Given the description of an element on the screen output the (x, y) to click on. 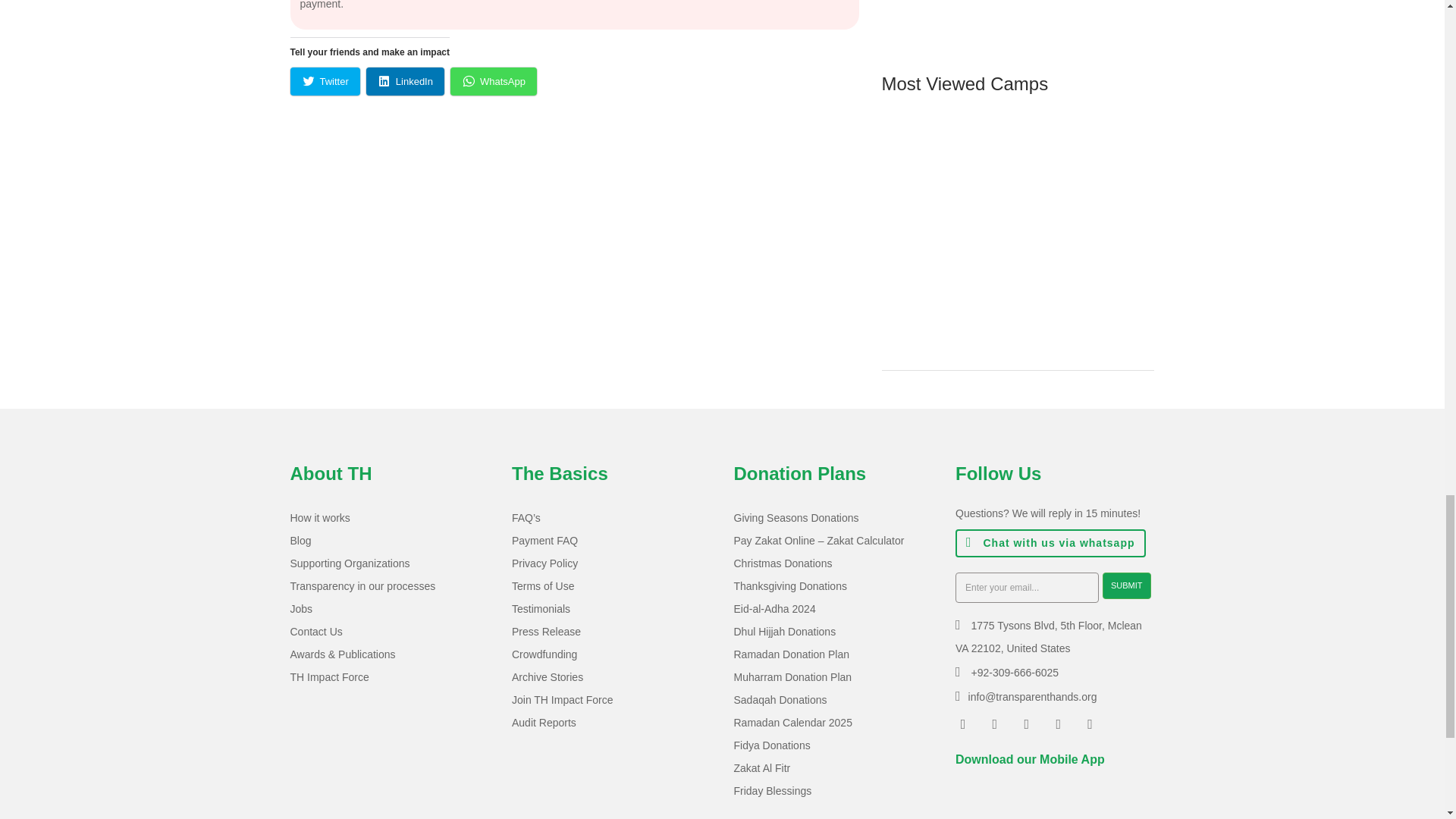
Click to share on Twitter (324, 81)
Twitter (324, 81)
Click to share on WhatsApp (493, 81)
Click to share on LinkedIn (405, 81)
LinkedIn (405, 81)
WhatsApp (493, 81)
